Given the description of an element on the screen output the (x, y) to click on. 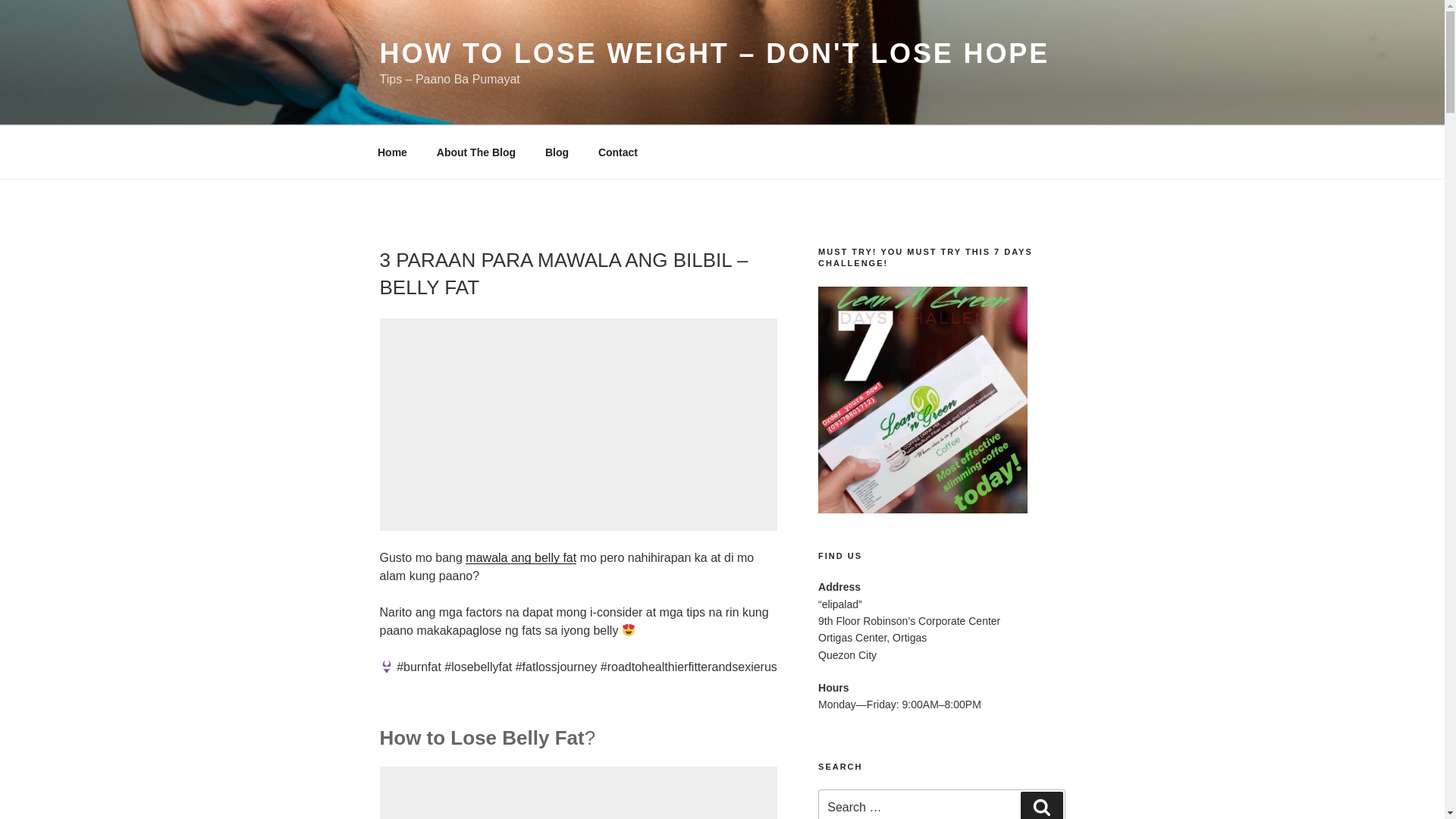
Home (392, 151)
Contact (617, 151)
mawala ang belly fat (520, 557)
Advertisement (578, 792)
About The Blog (475, 151)
Search (1041, 805)
Advertisement (577, 424)
Blog (555, 151)
